Given the description of an element on the screen output the (x, y) to click on. 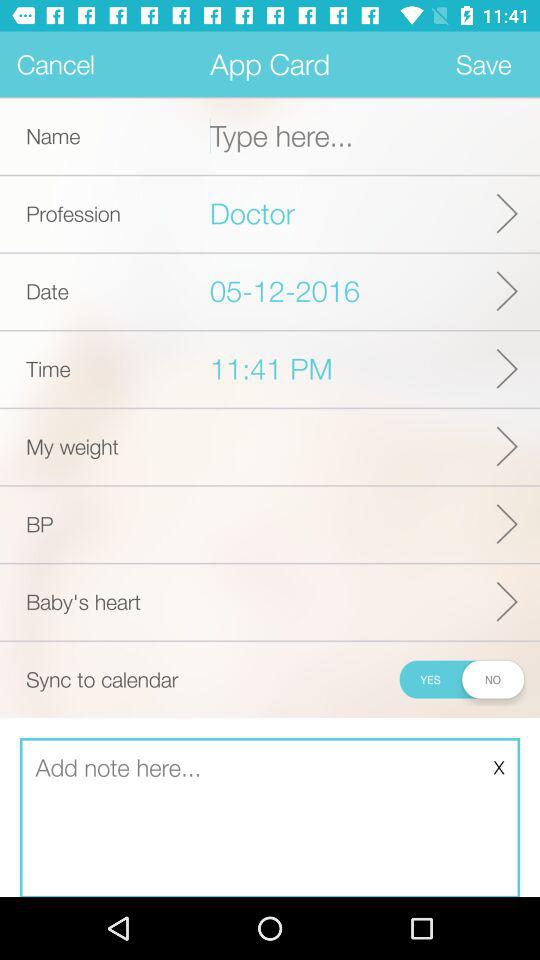
blank for writting name (375, 135)
